Given the description of an element on the screen output the (x, y) to click on. 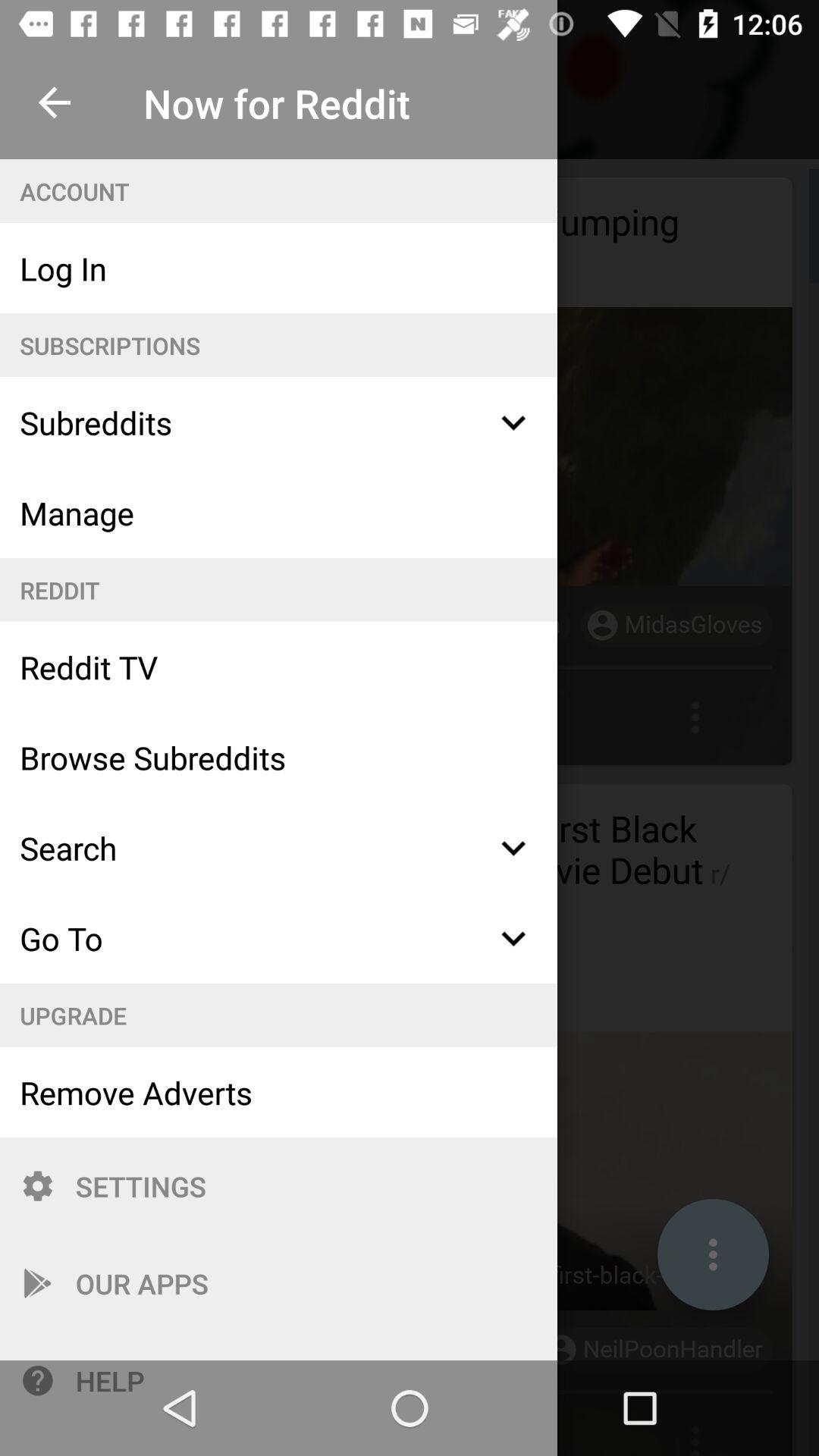
click on the icon which is beside to the help (37, 1379)
select the 3 dots (713, 1254)
